Given the description of an element on the screen output the (x, y) to click on. 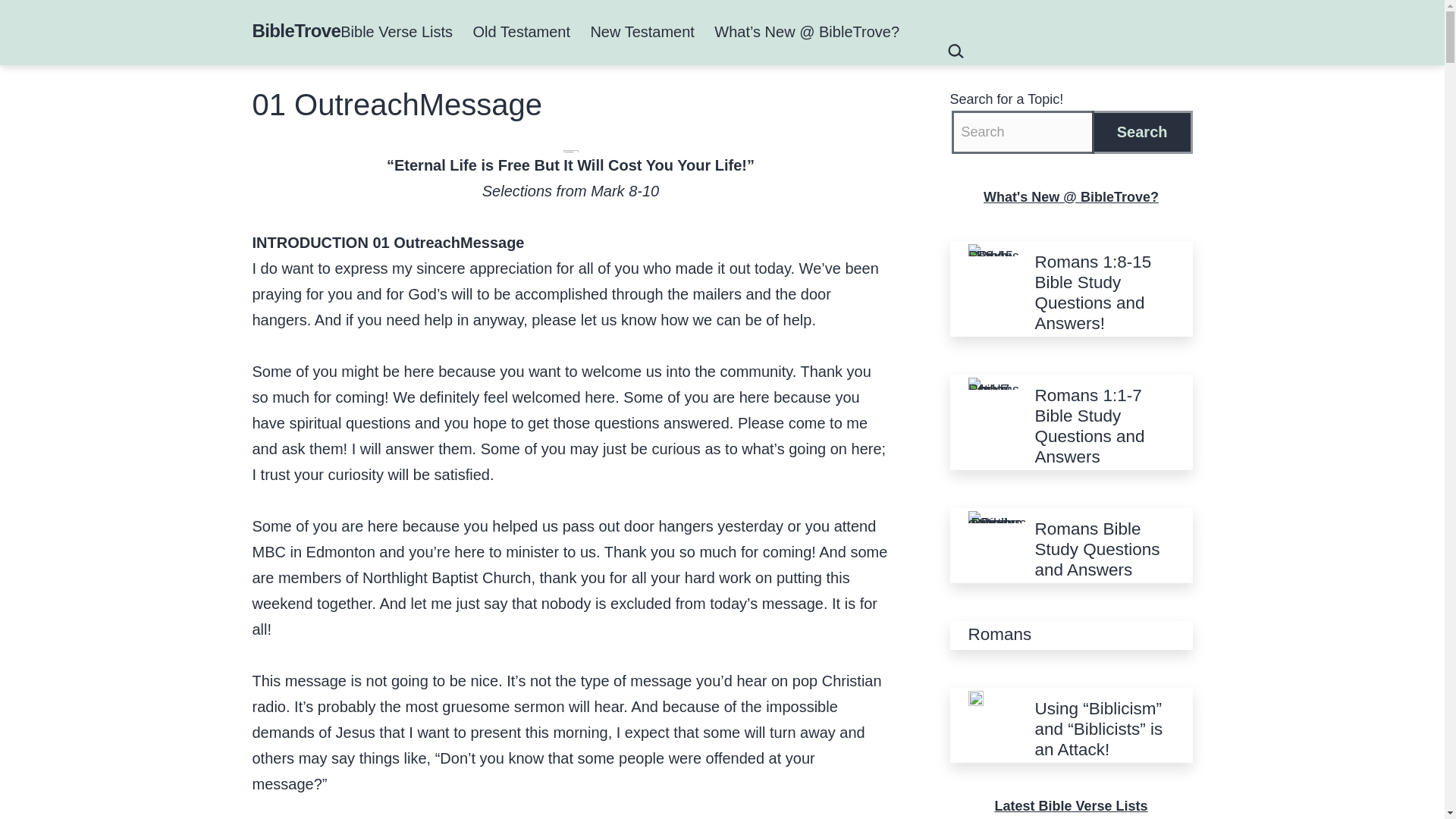
Bible Verse Lists (396, 31)
Romans 1:1-7 Bible Study Questions and Answers (1103, 425)
Search (1142, 131)
Romans 1:8-15 Bible Study Questions and Answers! (1103, 292)
BibleTrove (295, 30)
New Testament (641, 31)
Romans (999, 634)
Old Testament (521, 31)
Romans Bible Study Questions and Answers (1103, 548)
